Given the description of an element on the screen output the (x, y) to click on. 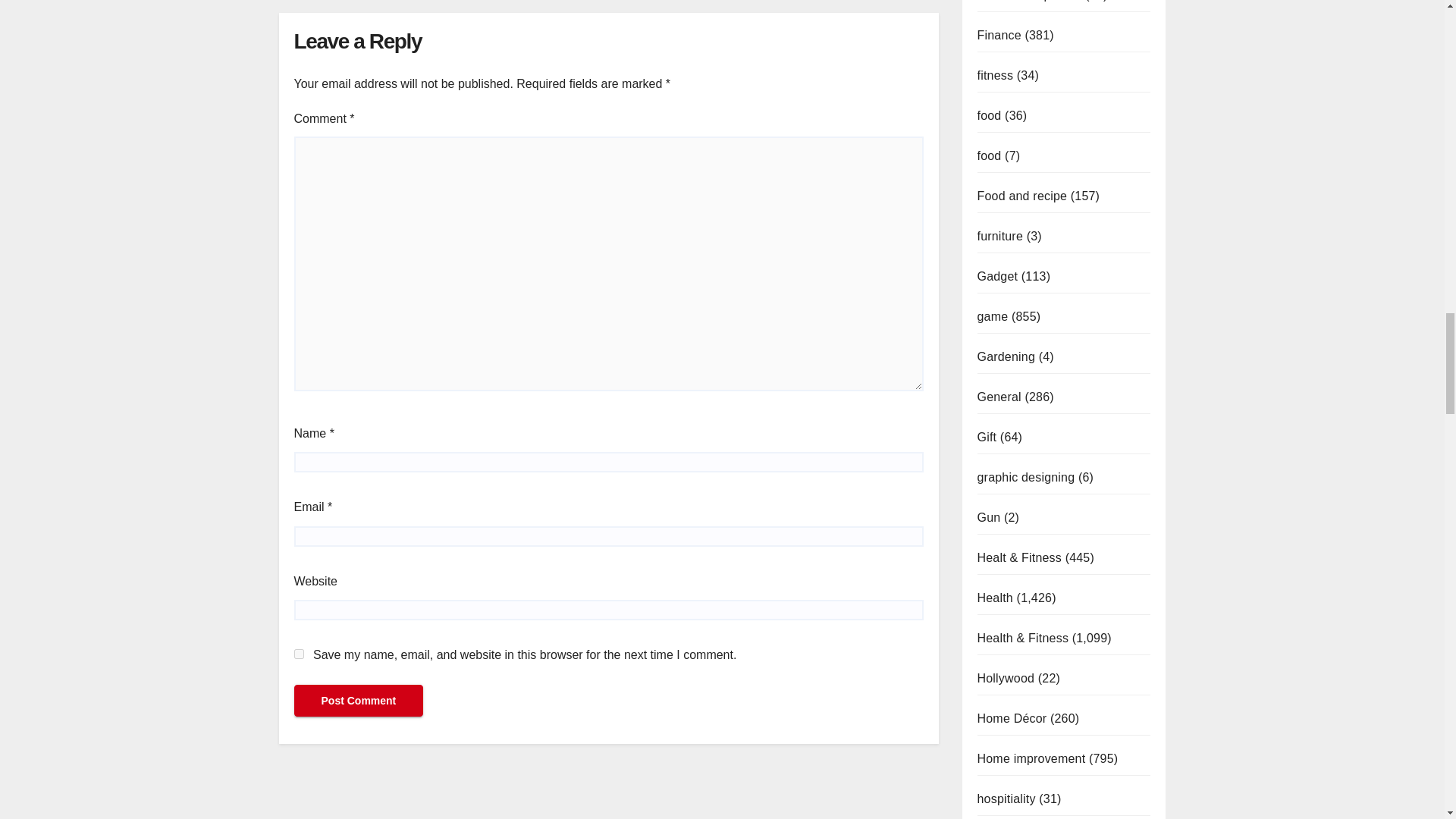
Post Comment (358, 700)
yes (299, 654)
